Given the description of an element on the screen output the (x, y) to click on. 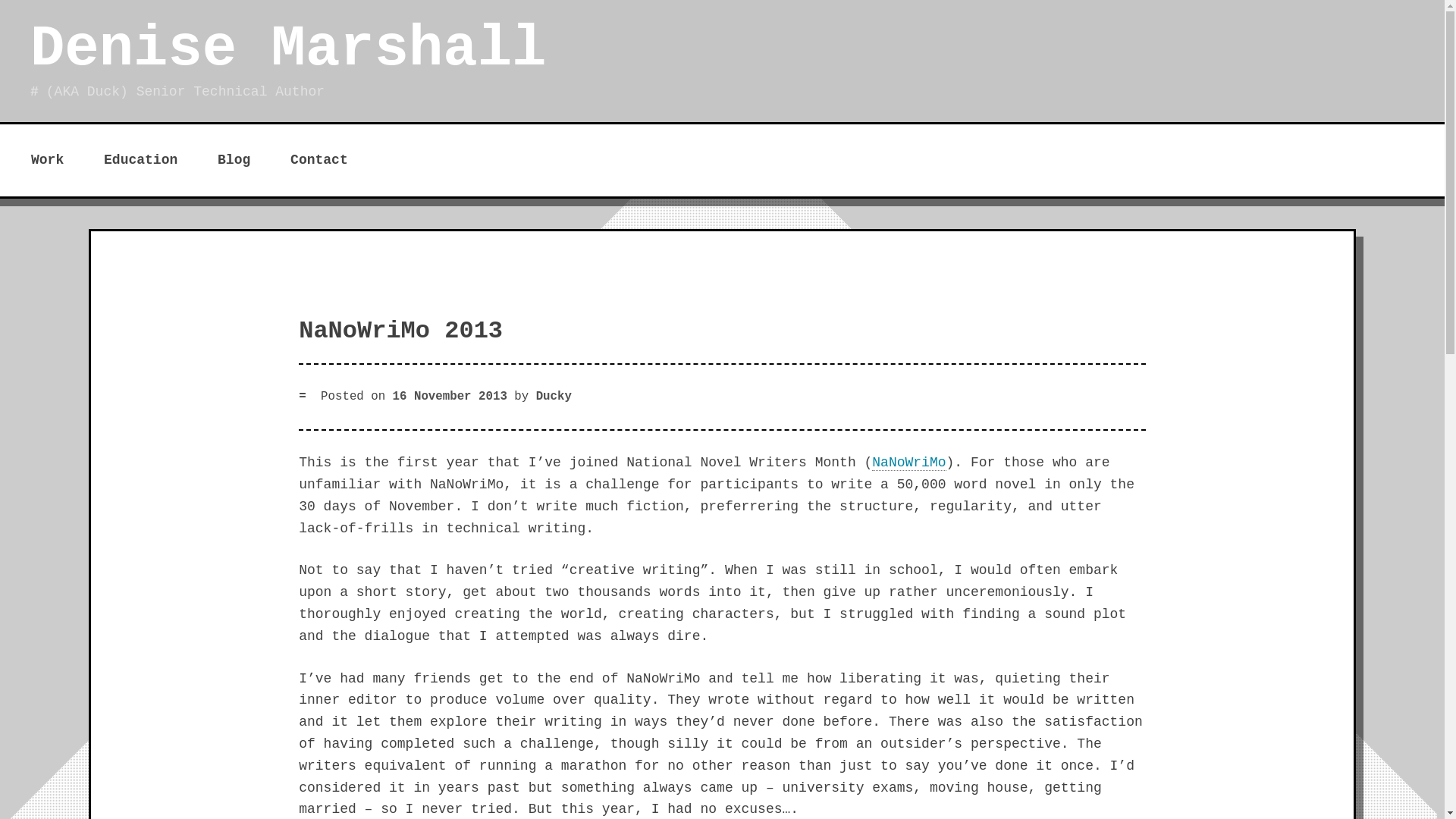
Ducky (553, 396)
Denise Marshall (288, 48)
Blog (234, 159)
NaNoWriMo (908, 462)
Work (47, 159)
16 November 2013 (449, 396)
Contact (319, 159)
Education (140, 159)
